Given the description of an element on the screen output the (x, y) to click on. 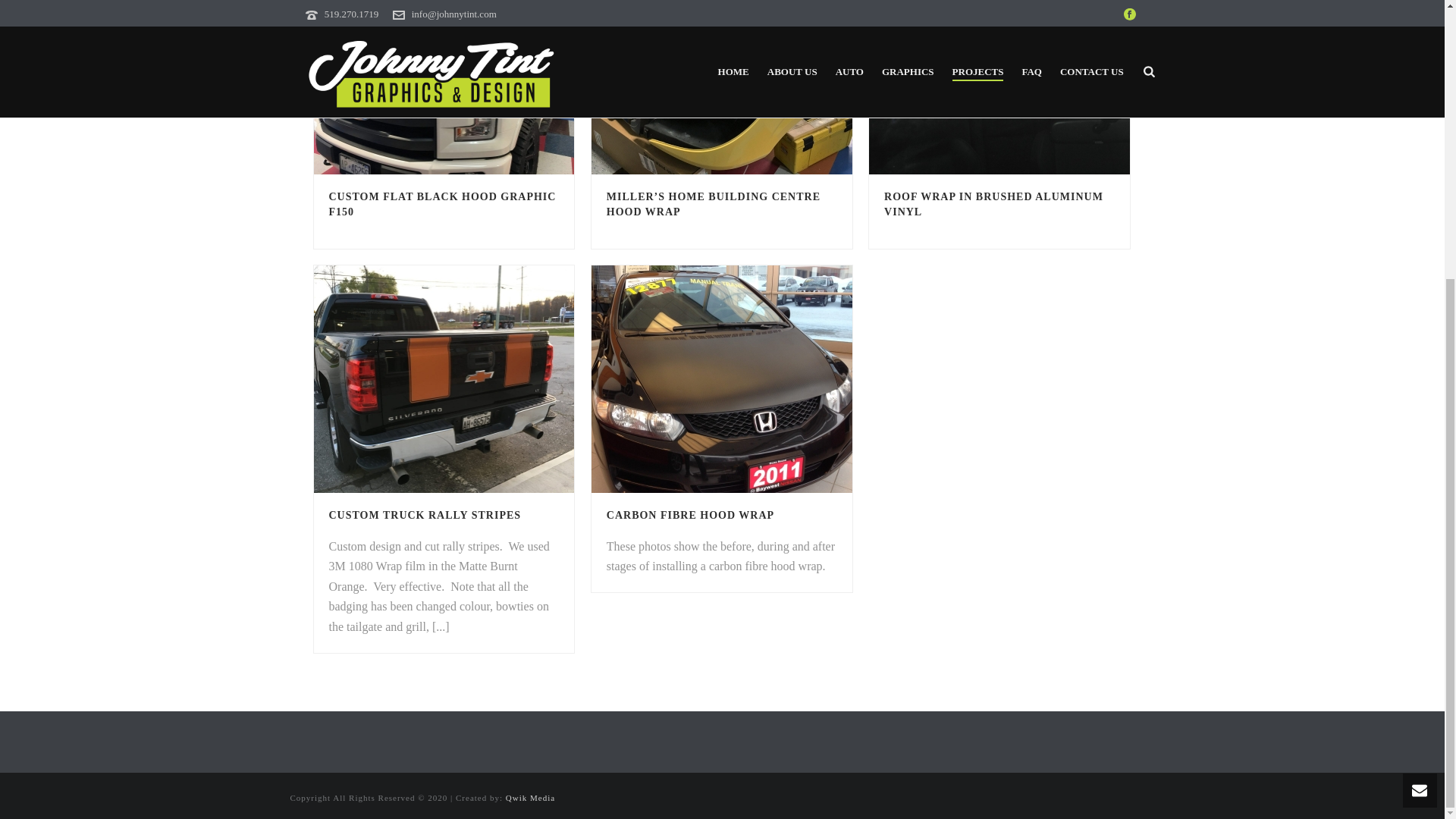
Roof wrap in brushed aluminum vinyl (999, 87)
Custom truck rally stripes (444, 379)
Carbon fibre hood wrap (721, 379)
Custom Flat Black hood graphic F150 (444, 87)
